Given the description of an element on the screen output the (x, y) to click on. 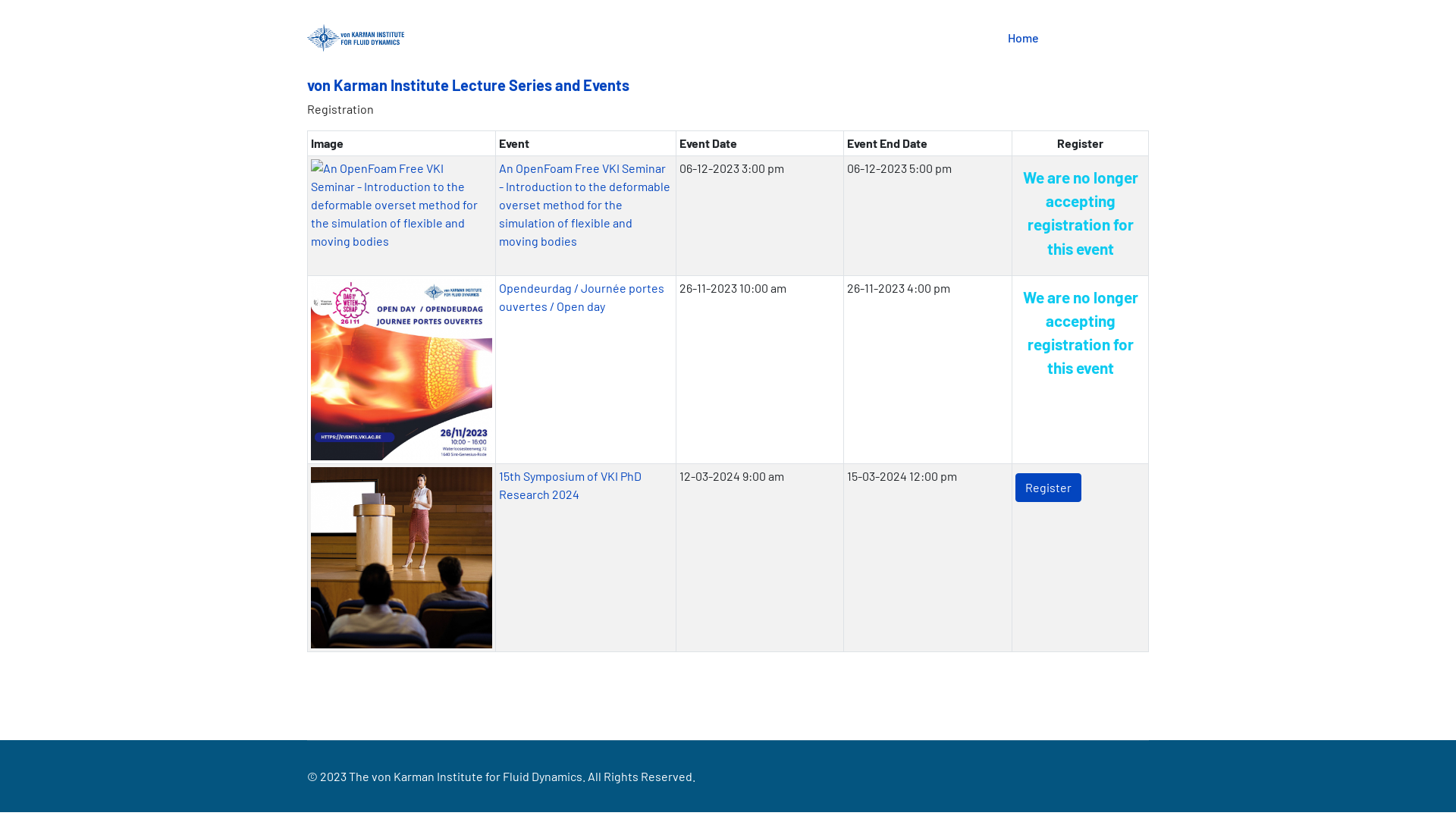
15th Symposium of VKI PhD Research 2024 Element type: text (569, 484)
Register Element type: text (1048, 487)
VKI Website Element type: text (1093, 37)
Home Element type: text (1023, 37)
